Given the description of an element on the screen output the (x, y) to click on. 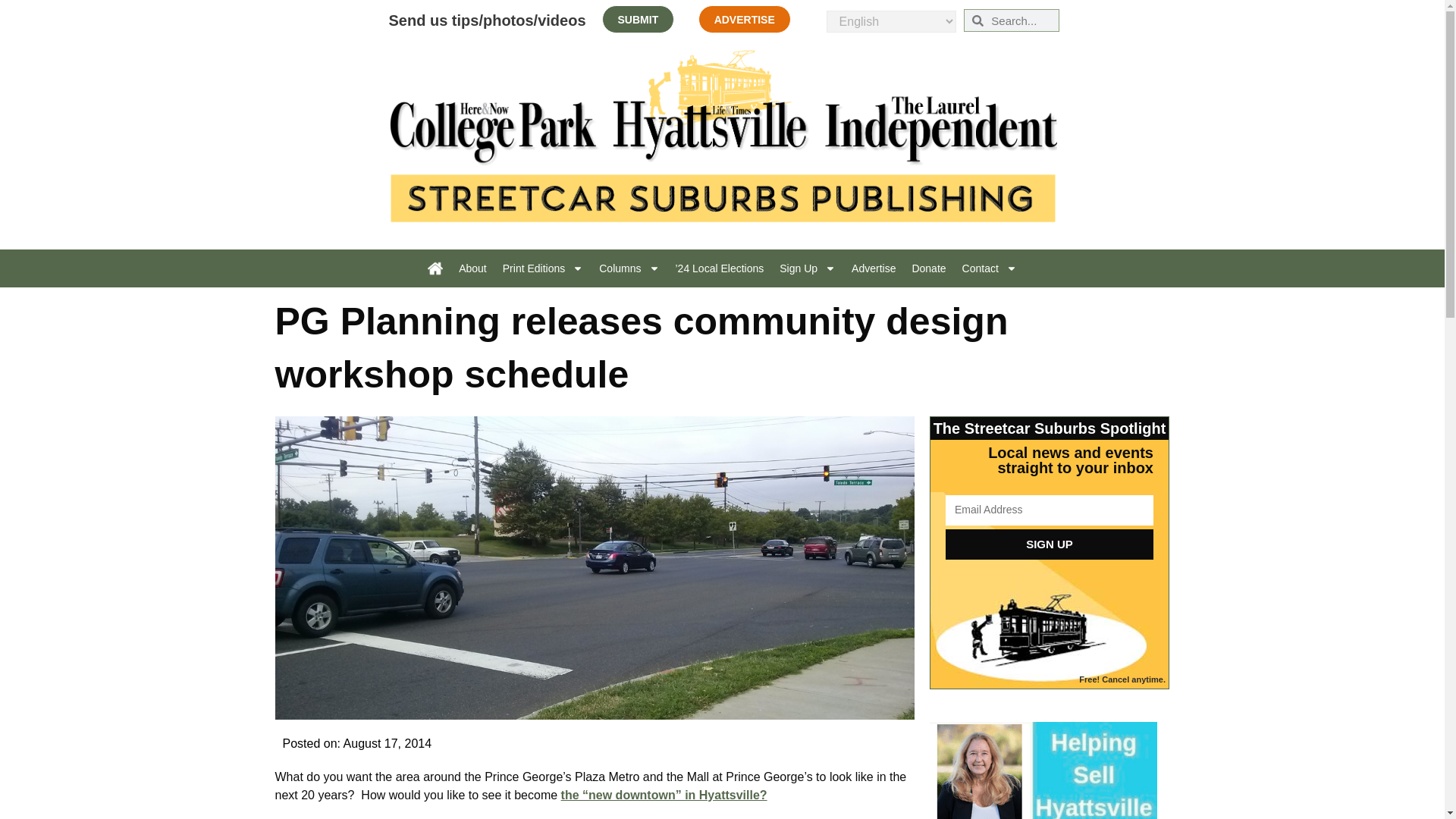
Donate (928, 268)
Columns (628, 268)
Advertise (873, 268)
About (473, 268)
Contact (990, 268)
SUBMIT (638, 18)
Print Editions (543, 268)
ADVERTISE (744, 18)
Sign Up (807, 268)
